Given the description of an element on the screen output the (x, y) to click on. 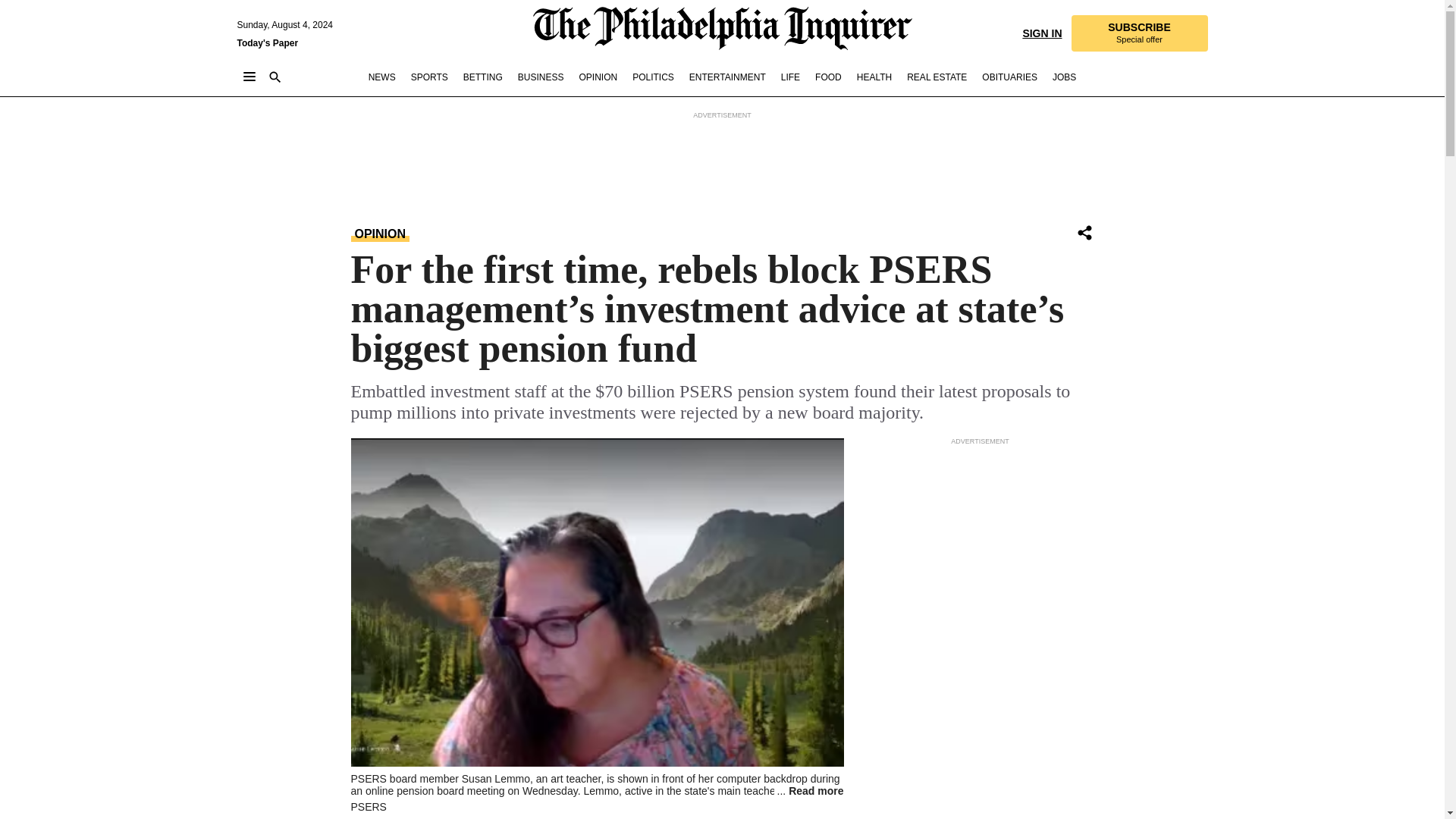
ENTERTAINMENT (726, 77)
Today's Paper (266, 42)
SPORTS (429, 77)
LIFE (789, 77)
OPINION (597, 77)
POLITICS (652, 77)
BUSINESS (541, 77)
JOBS (1063, 77)
NEWS (382, 77)
REAL ESTATE (936, 77)
HEALTH (874, 77)
OPINION (380, 233)
Share Icon (1084, 233)
Share Icon (1084, 232)
Read more (809, 790)
